Given the description of an element on the screen output the (x, y) to click on. 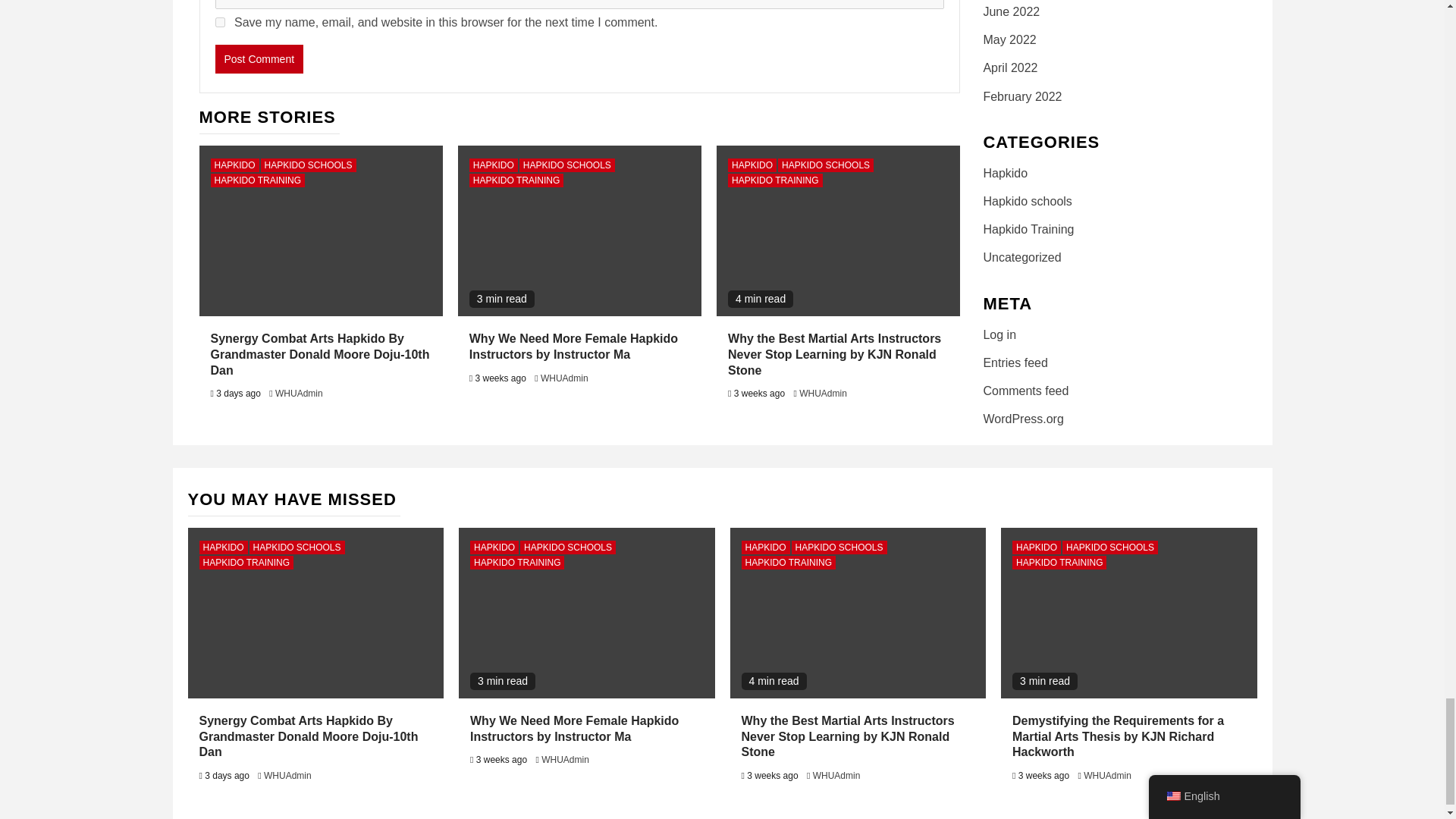
Post Comment (259, 59)
HAPKIDO TRAINING (257, 180)
WHUAdmin (299, 393)
Post Comment (259, 59)
yes (220, 22)
HAPKIDO SCHOOLS (308, 164)
HAPKIDO (235, 164)
